Given the description of an element on the screen output the (x, y) to click on. 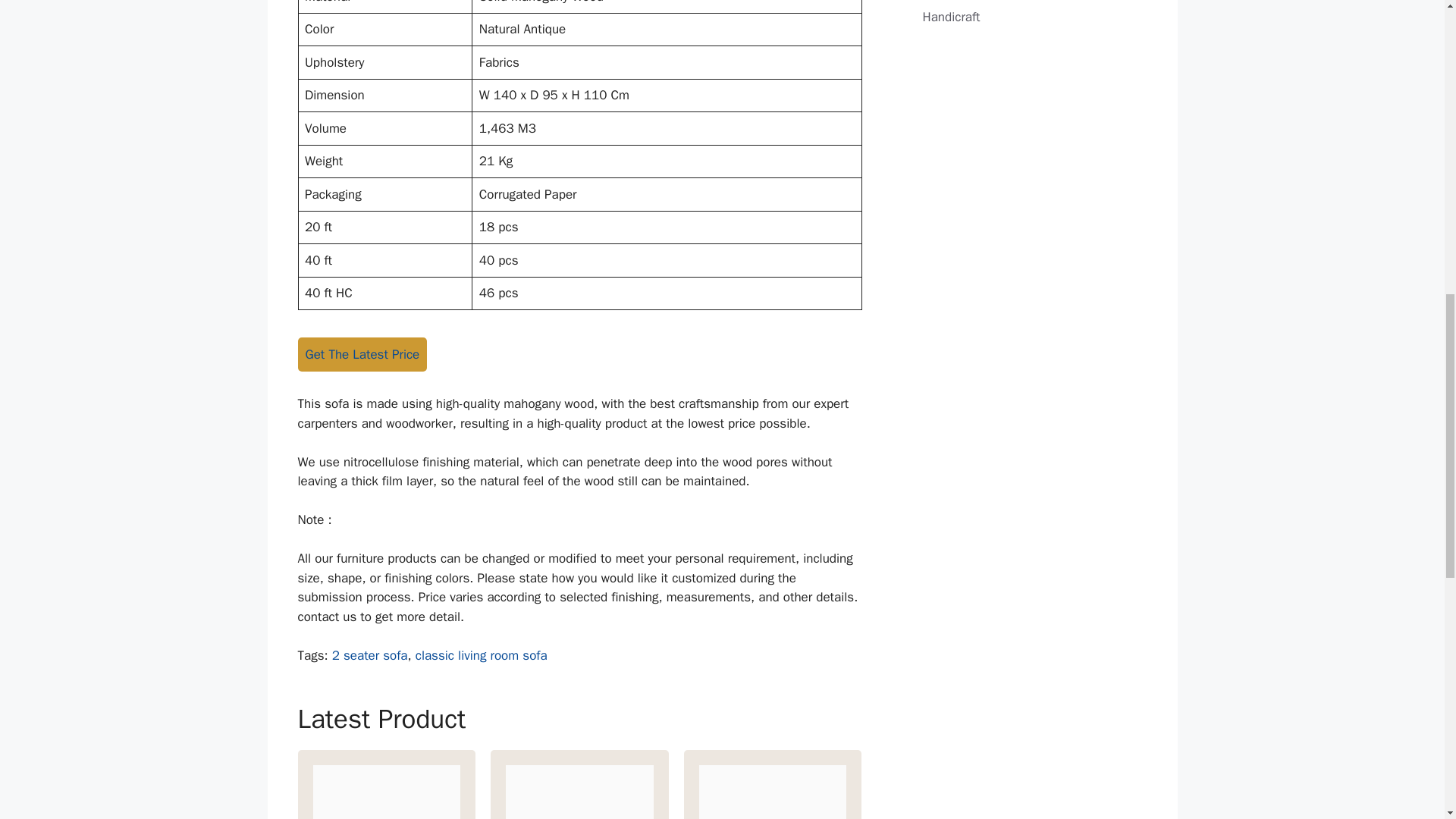
Scroll back to top (1406, 720)
Get The Latest Price (361, 354)
classic living room sofa (480, 655)
2 seater sofa (369, 655)
